Given the description of an element on the screen output the (x, y) to click on. 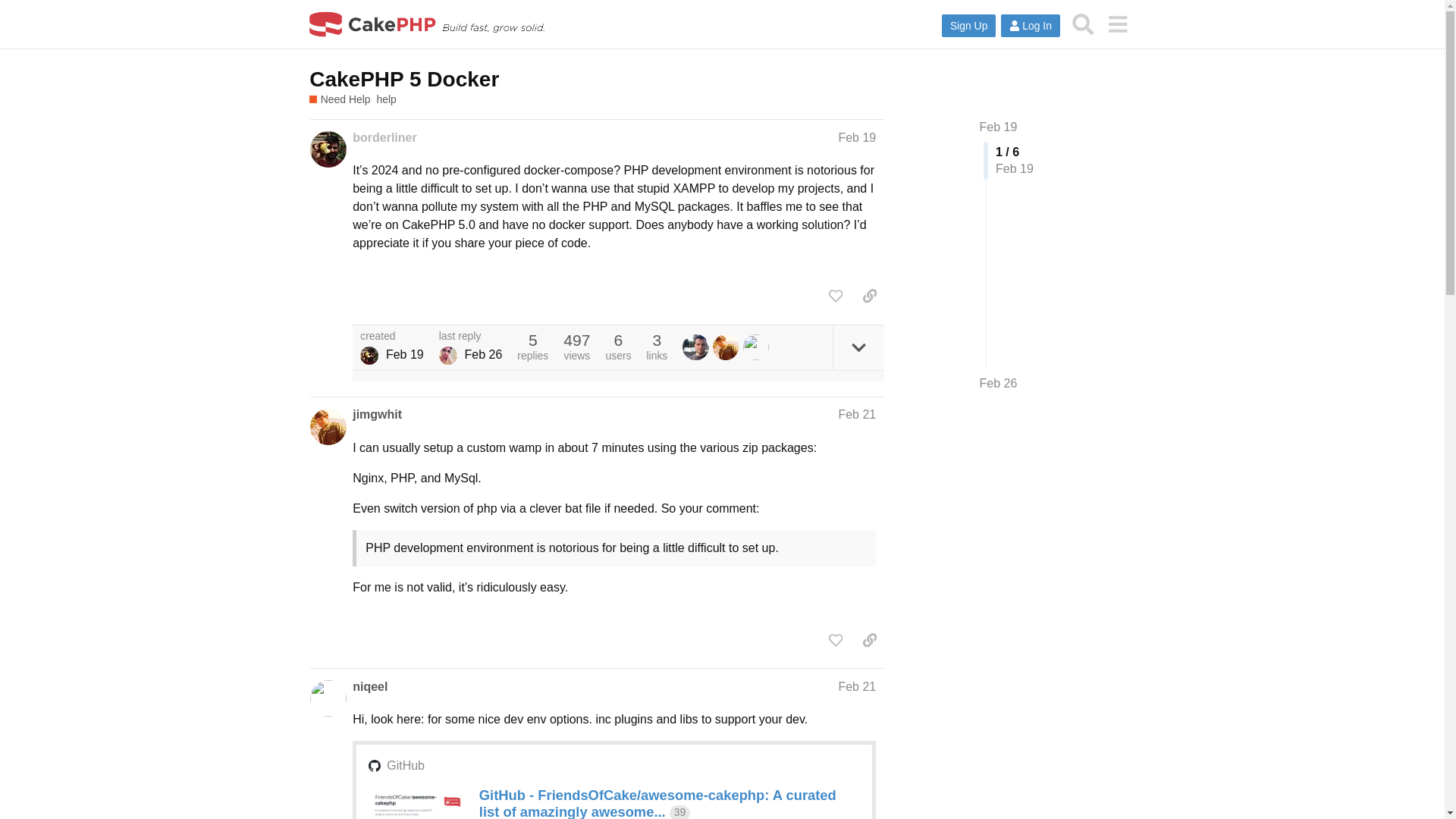
Feb 26, 2024 1:07 am (483, 354)
Jump to the first post (998, 126)
copy a link to this post to clipboard (869, 295)
Feb 19, 2024 2:16 pm (404, 354)
bgrinter (697, 347)
CakePHP 5 Docker (403, 78)
Feb 19 (857, 137)
Sign Up (968, 25)
Search (1082, 23)
Brian Grinter (694, 347)
Feb 21 (857, 686)
niqeel (369, 686)
last reply (470, 336)
help (386, 99)
Feb 26 (998, 383)
